Given the description of an element on the screen output the (x, y) to click on. 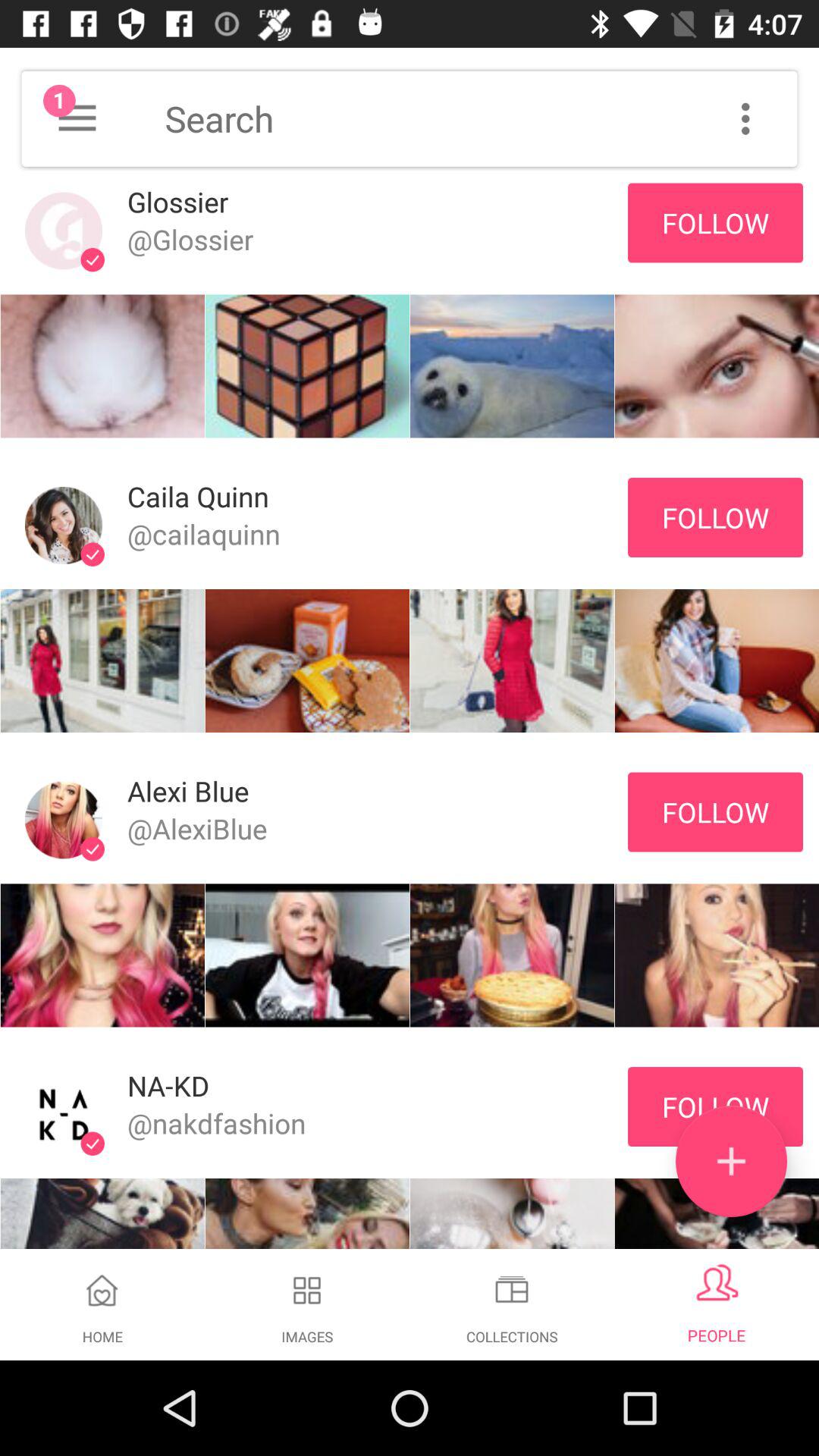
orange box flashing for adding new page (731, 1161)
